Given the description of an element on the screen output the (x, y) to click on. 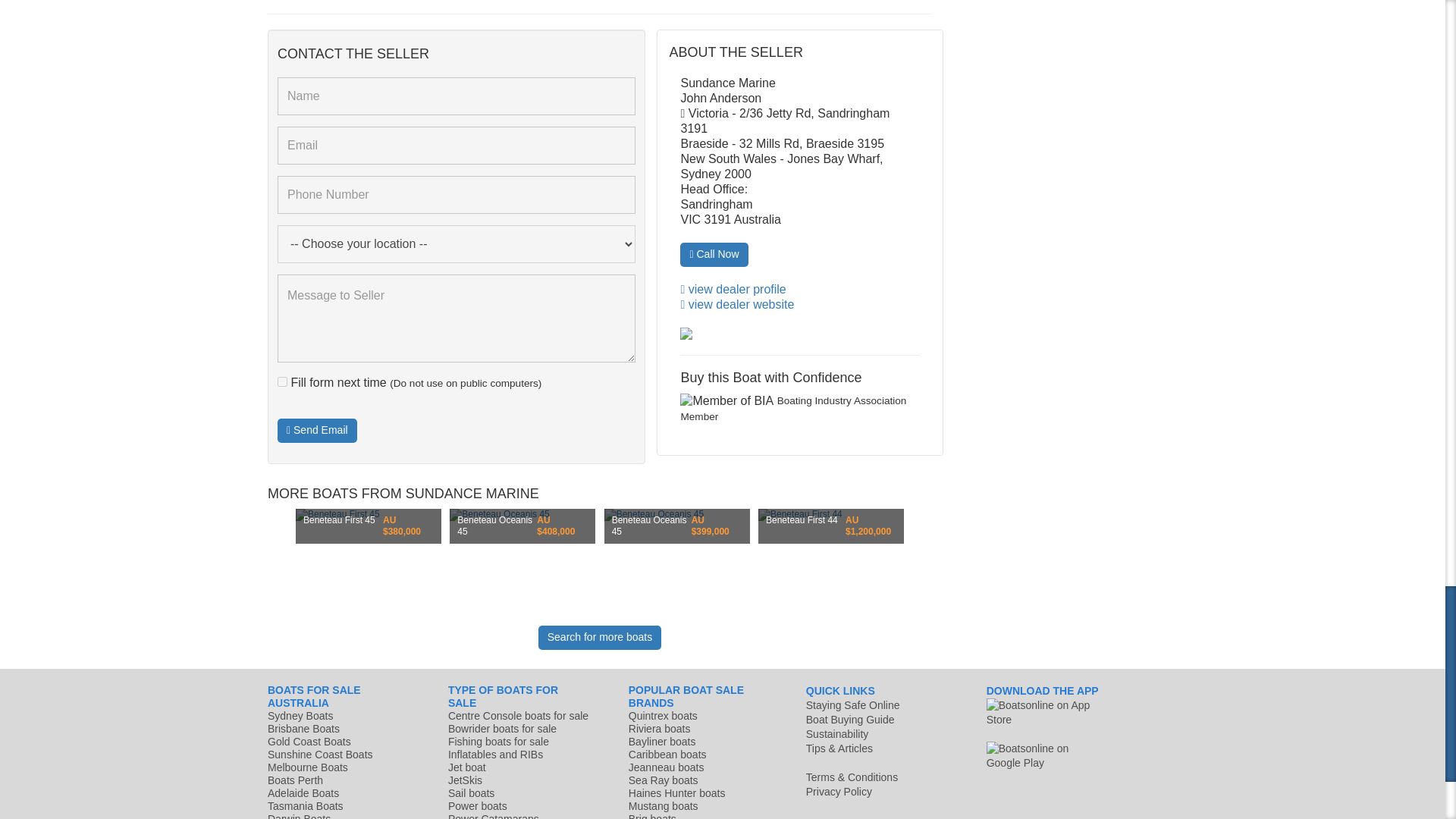
on (282, 381)
